Given the description of an element on the screen output the (x, y) to click on. 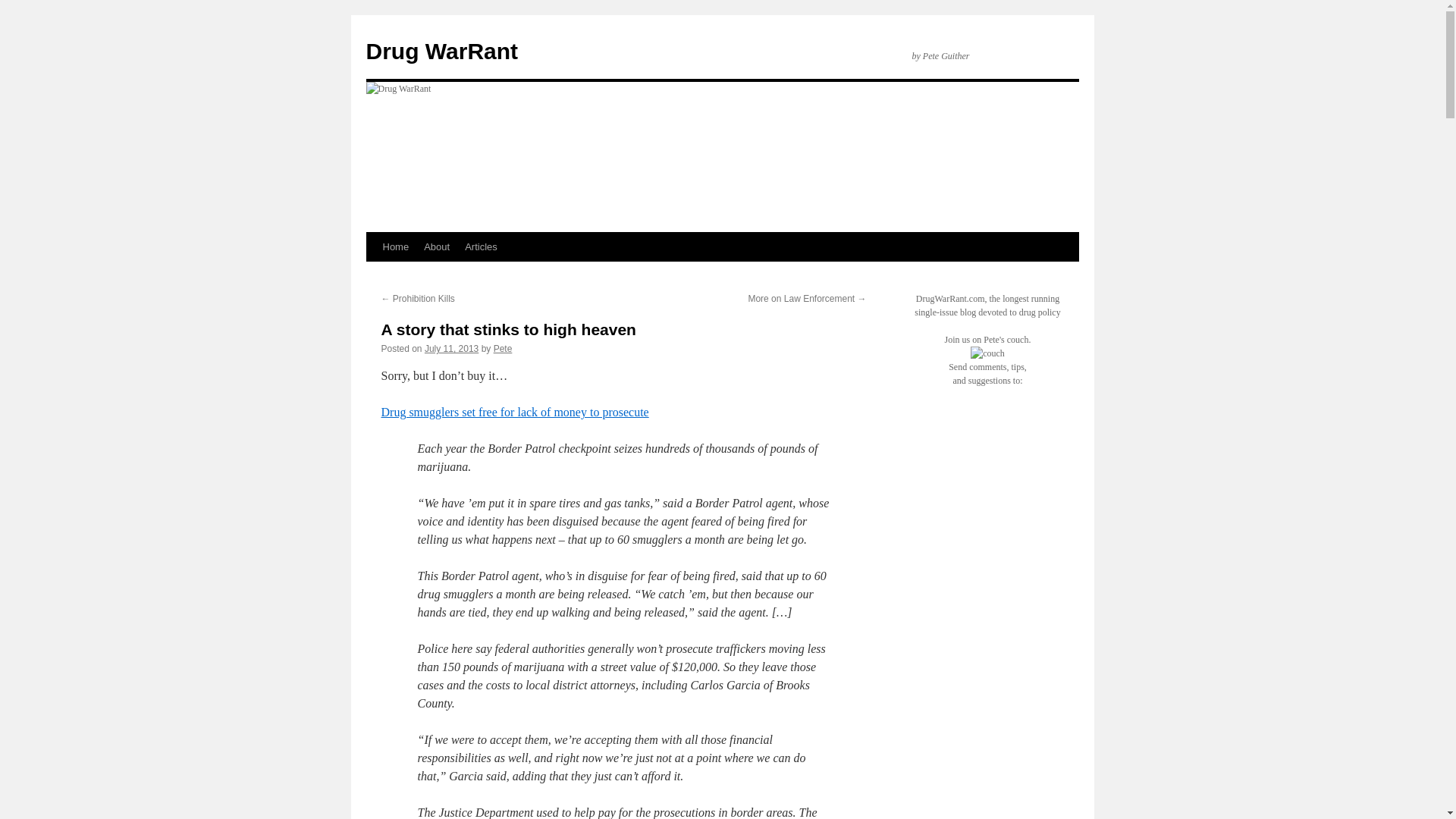
July 11, 2013 (452, 348)
About (436, 246)
Drug WarRant (441, 50)
Articles (481, 246)
Drug smugglers set free for lack of money to prosecute (513, 411)
Home (395, 246)
8:04 pm (452, 348)
Pete (502, 348)
View all posts by Pete (502, 348)
